Given the description of an element on the screen output the (x, y) to click on. 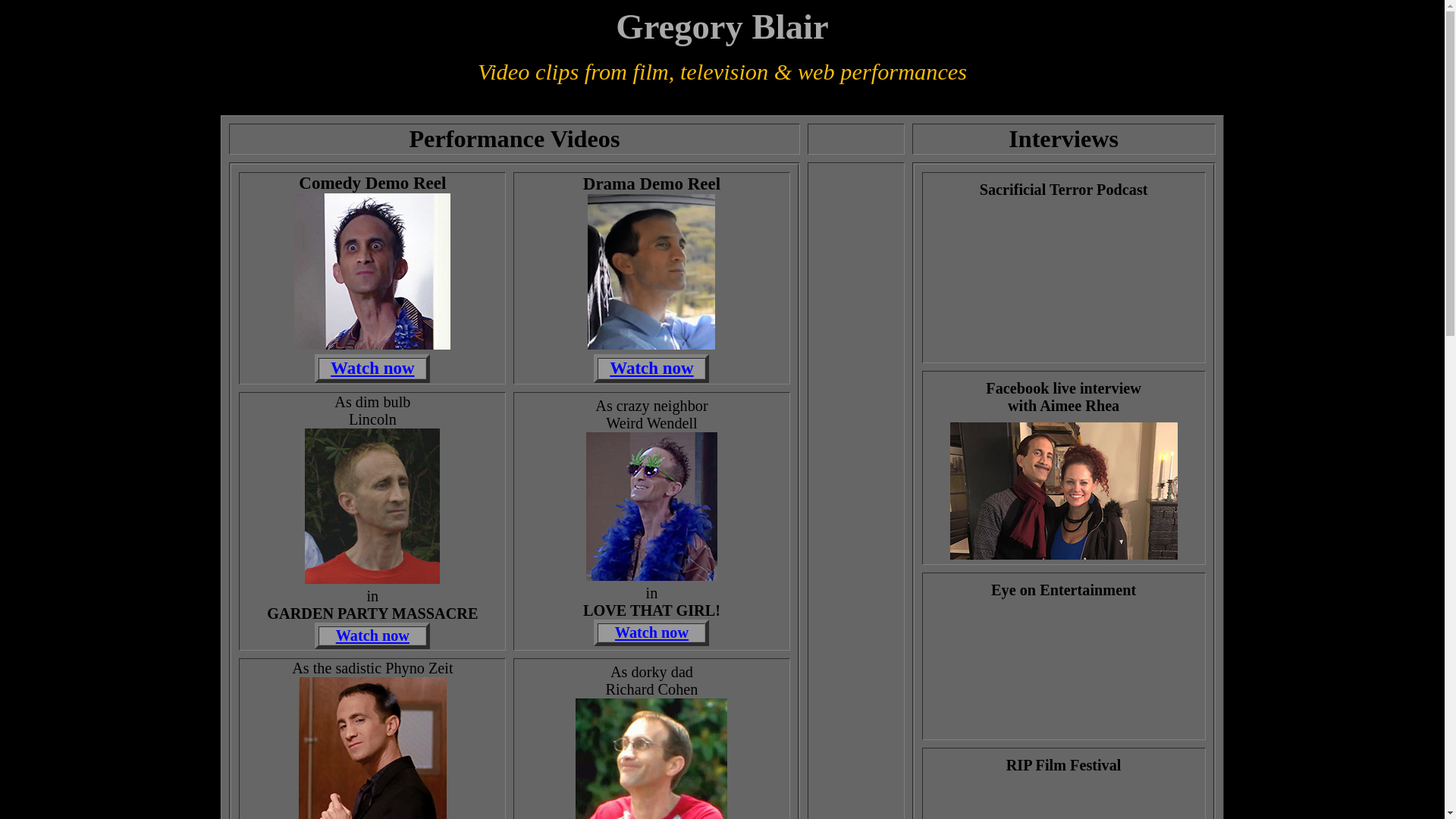
Watch now Element type: text (651, 631)
Watch now Element type: text (372, 635)
Watch now Element type: text (651, 366)
Watch now Element type: text (372, 367)
